Given the description of an element on the screen output the (x, y) to click on. 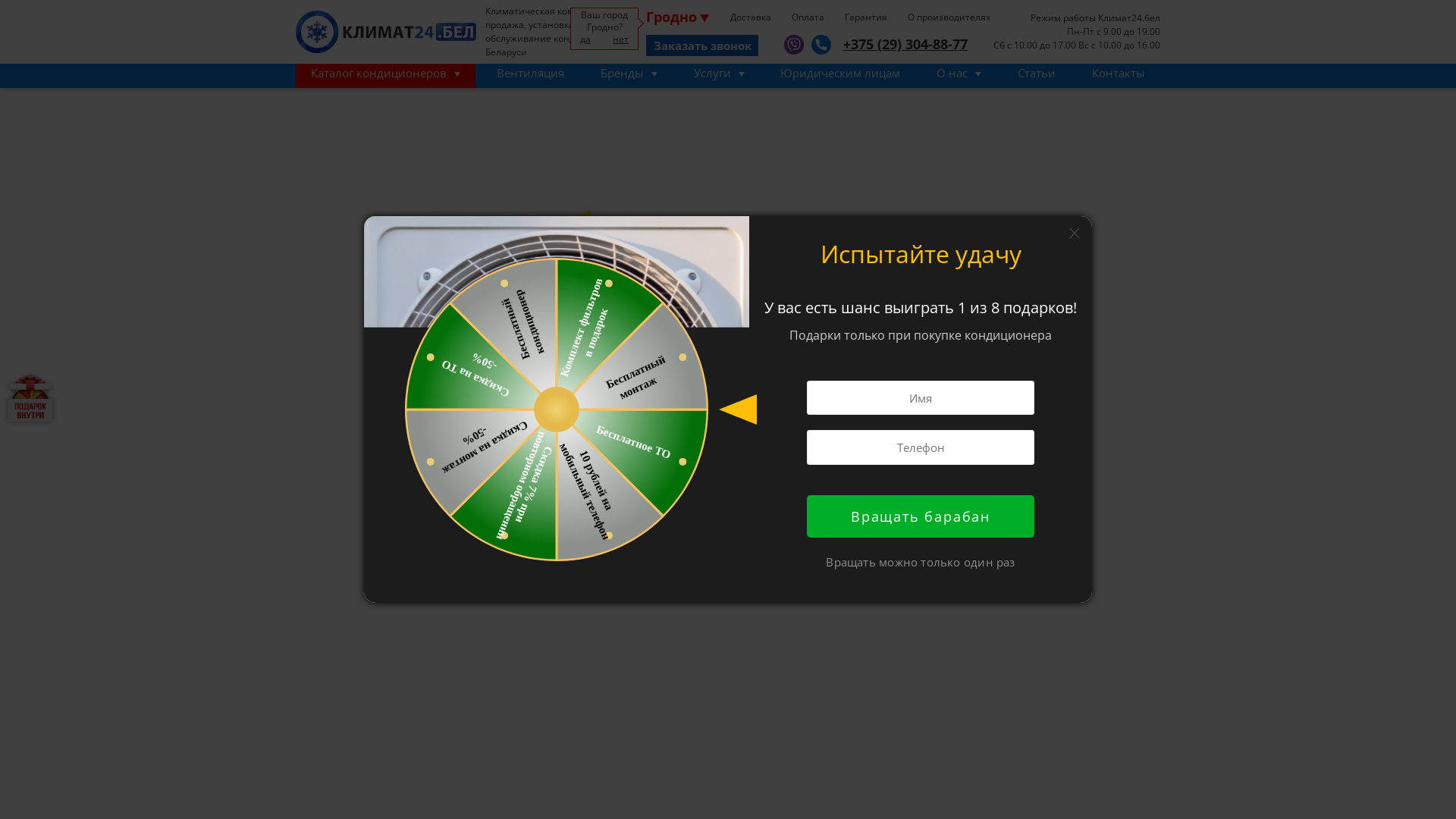
+375 (29) 304-88-77 Element type: text (899, 43)
